Given the description of an element on the screen output the (x, y) to click on. 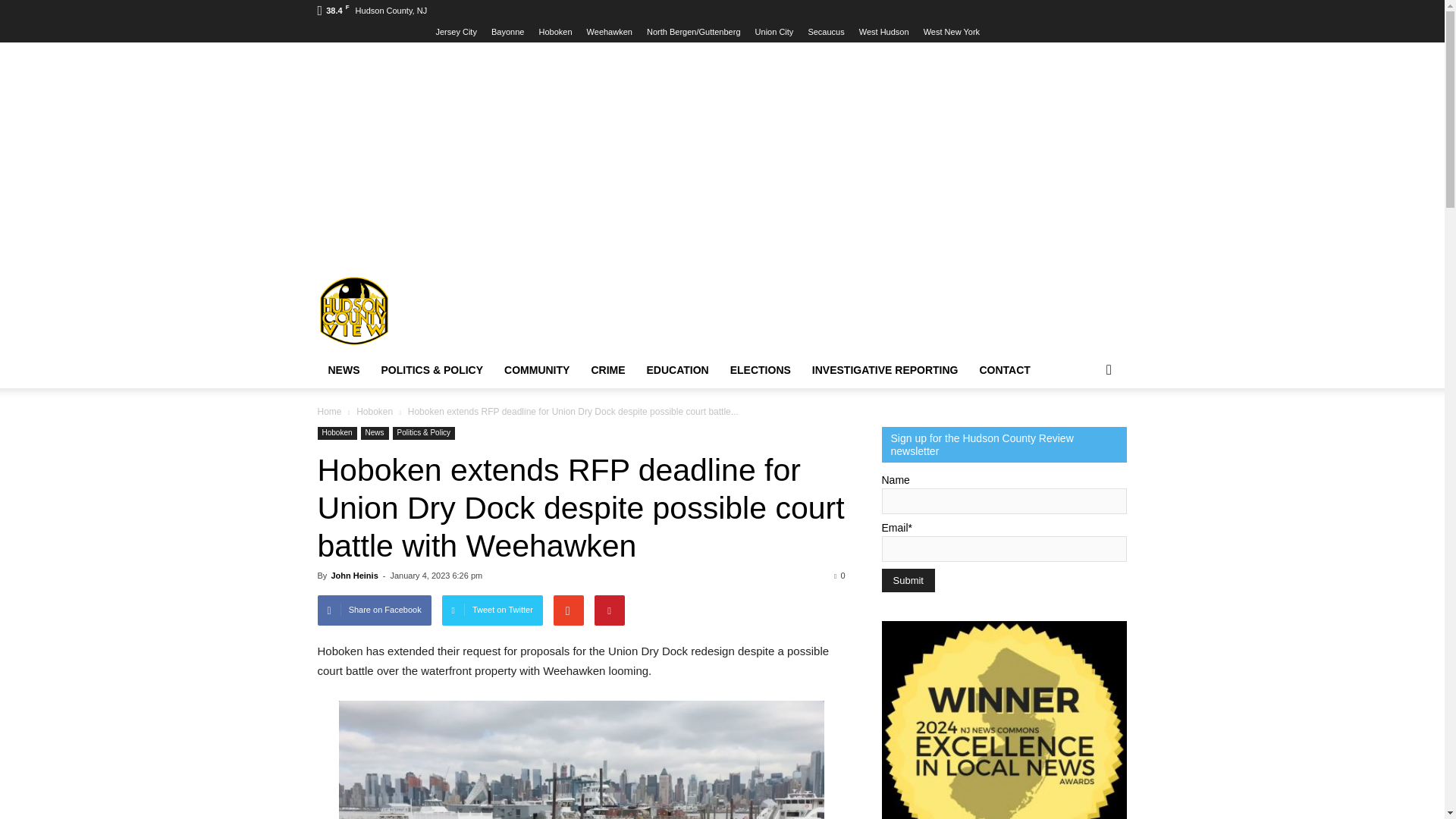
Jersey City (455, 31)
Weehawken (608, 31)
COMMUNITY (536, 370)
EDUCATION (677, 370)
Hoboken (555, 31)
ELECTIONS (760, 370)
West New York (951, 31)
Union City (774, 31)
Secaucus (826, 31)
INVESTIGATIVE REPORTING (885, 370)
View all posts in Hoboken (375, 411)
Submit (907, 580)
CRIME (606, 370)
Bayonne (508, 31)
